Given the description of an element on the screen output the (x, y) to click on. 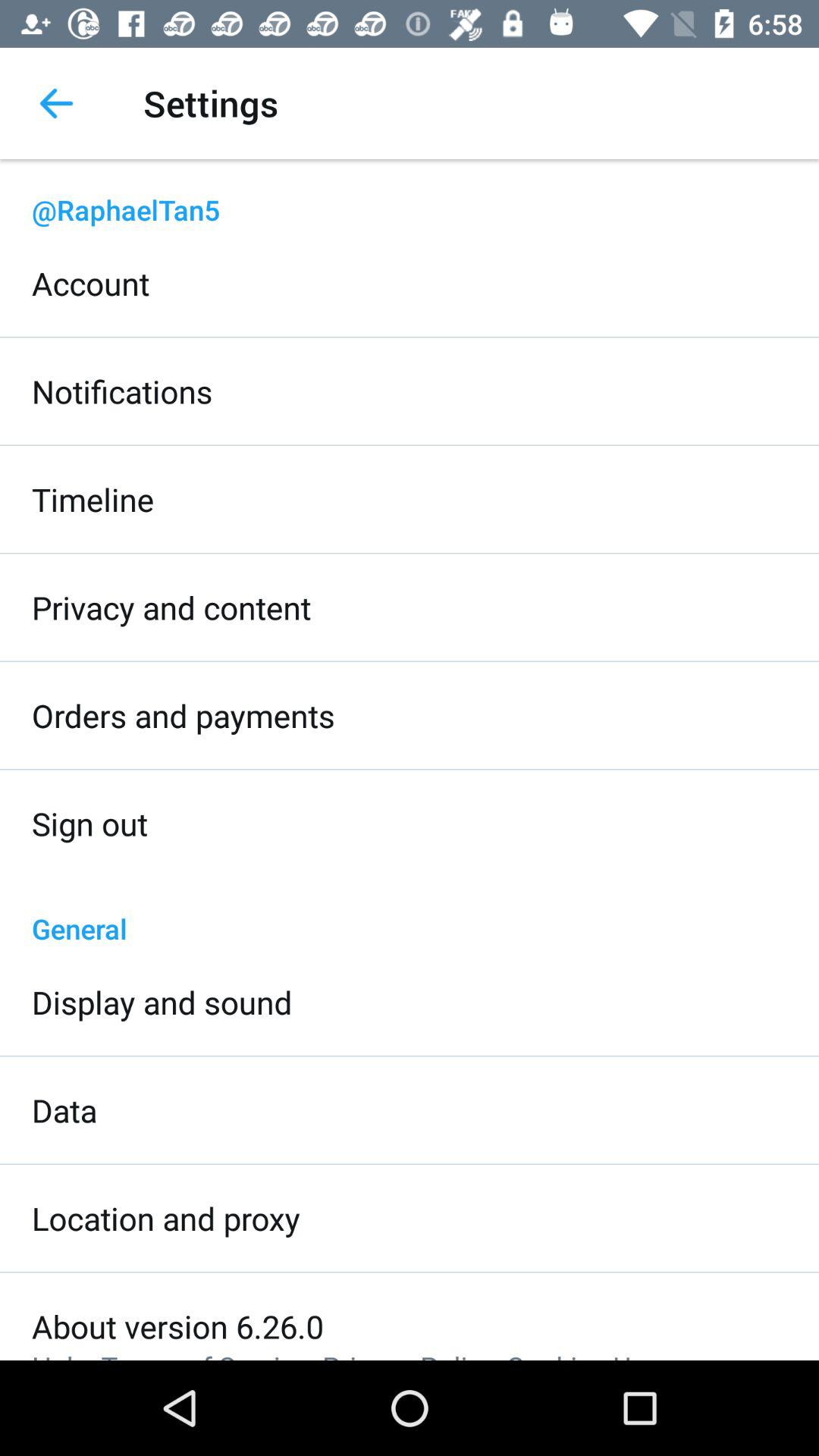
turn off icon above general (89, 823)
